Given the description of an element on the screen output the (x, y) to click on. 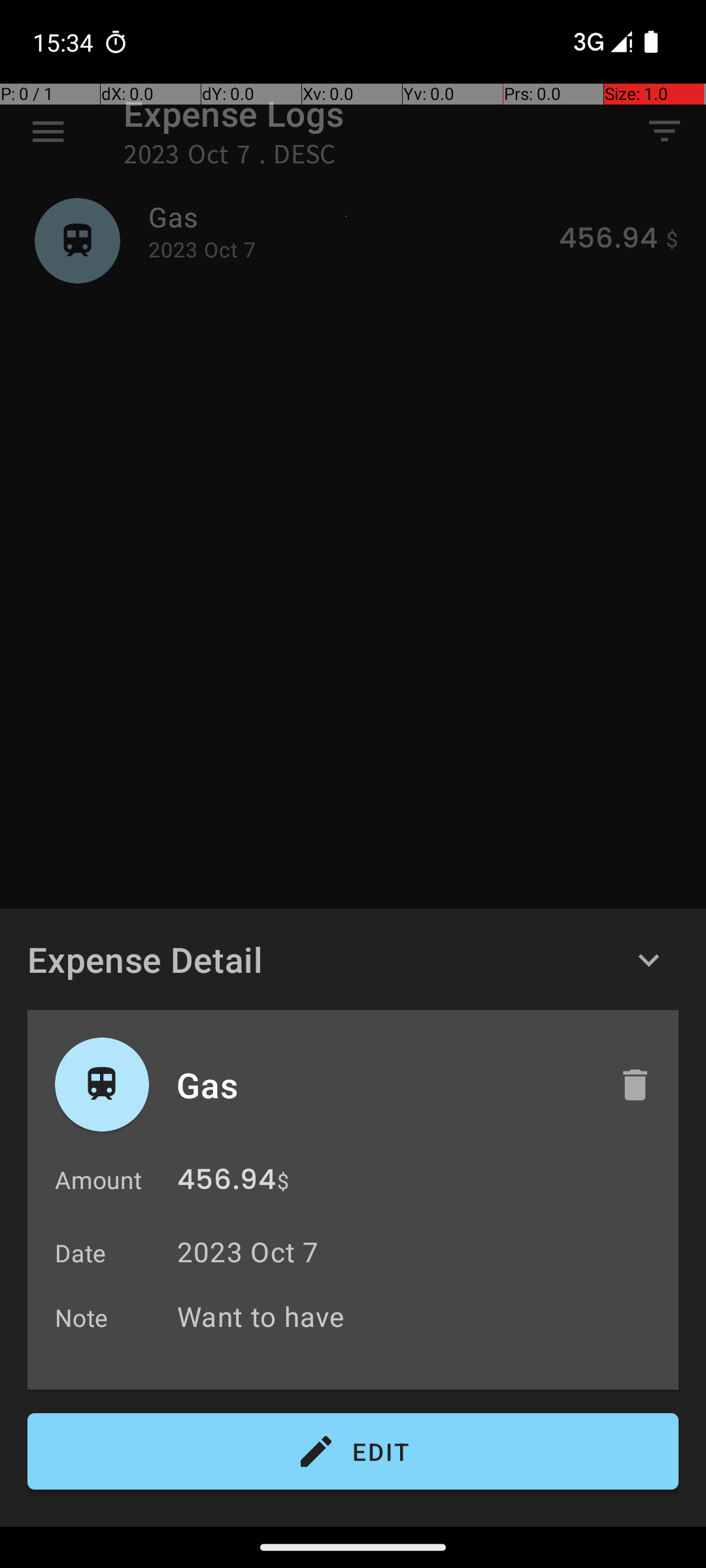
456.94 Element type: android.widget.TextView (226, 1182)
